Given the description of an element on the screen output the (x, y) to click on. 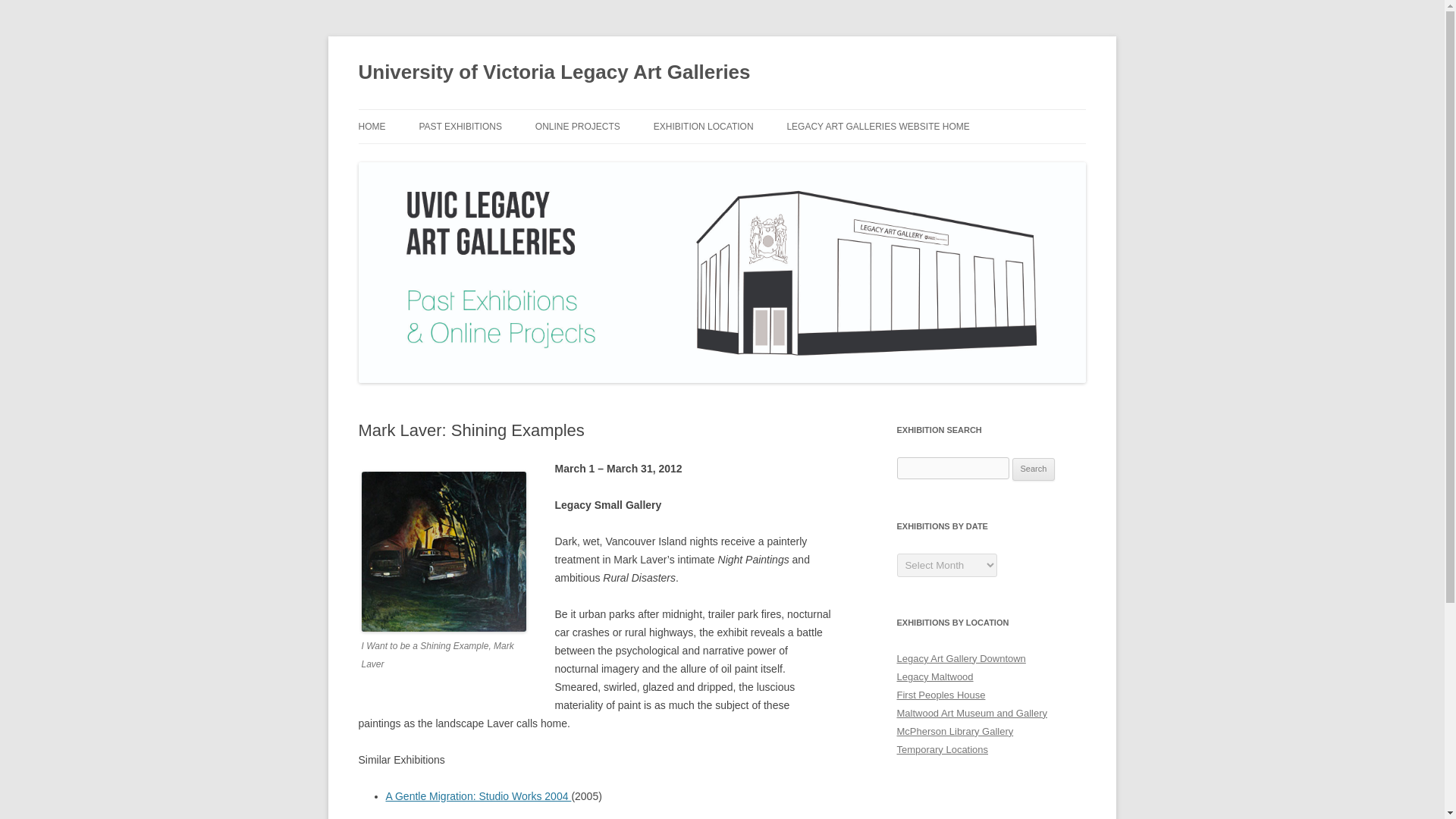
EXHIBITION LOCATION (703, 126)
Search (1033, 468)
University of Victoria Legacy Art Galleries (553, 72)
ONLINE PROJECTS (577, 126)
Legacy Art Gallery Downtown (960, 658)
First Peoples House (940, 695)
A Gentle Migration: Studio Works 2004 (477, 796)
Temporary Locations (942, 749)
McPherson Library Gallery (954, 731)
Maltwood Art Museum and Gallery (971, 713)
Search (1033, 468)
PAST EXHIBITIONS (460, 126)
Legacy Maltwood (934, 676)
LEGACY ART GALLERIES WEBSITE HOME (877, 126)
